Given the description of an element on the screen output the (x, y) to click on. 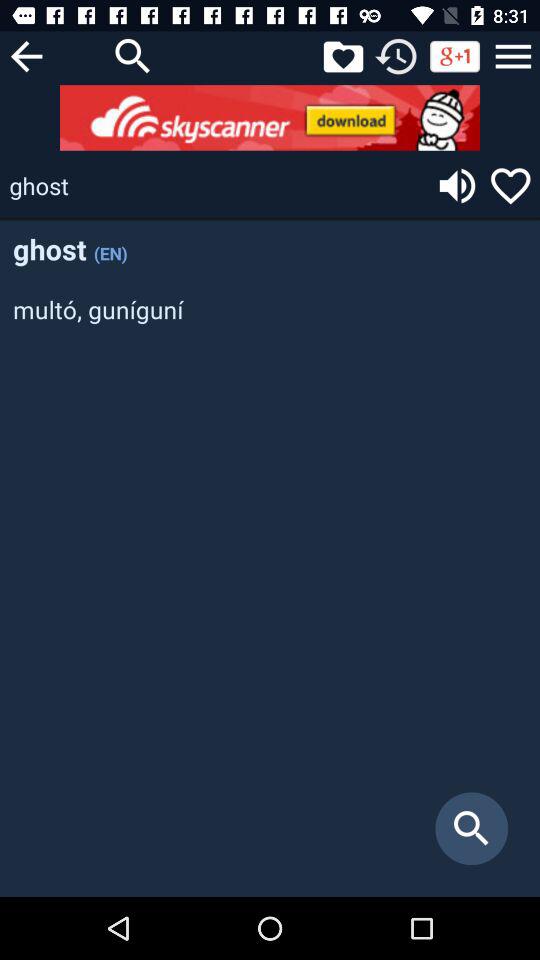
open menu (513, 56)
